Given the description of an element on the screen output the (x, y) to click on. 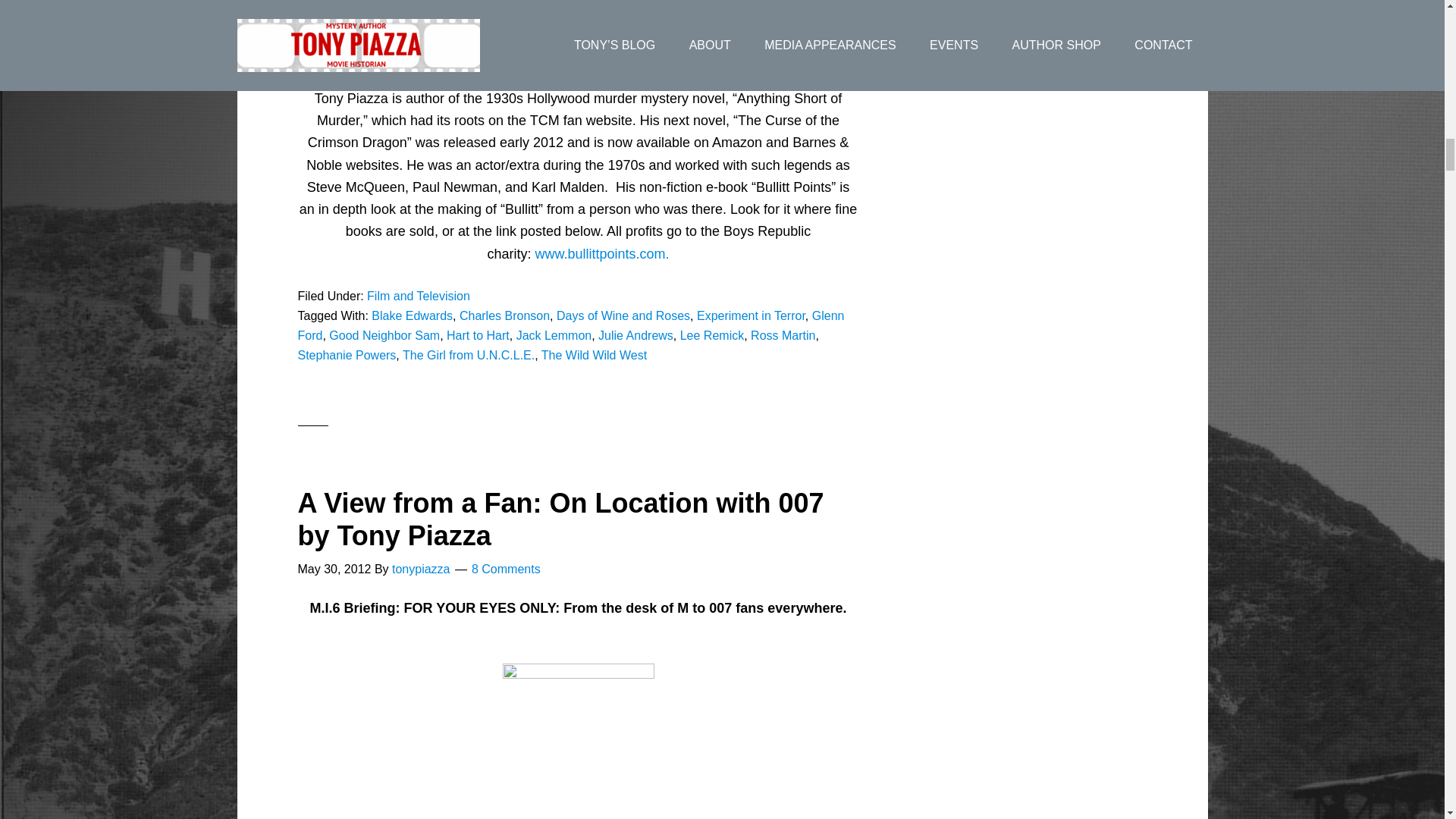
Lee Remick (711, 335)
terror poster (577, 11)
Julie Andrews (635, 335)
Glenn Ford (570, 325)
www.bullittpoints.com. (601, 253)
Days of Wine and Roses (623, 315)
Ross Martin (783, 335)
Good Neighbor Sam (384, 335)
Film and Television (418, 295)
AVTOK1 (577, 741)
Experiment in Terror (751, 315)
Jack Lemmon (554, 335)
Stephanie Powers (346, 354)
The Girl from U.N.C.L.E. (468, 354)
Blake Edwards (411, 315)
